Given the description of an element on the screen output the (x, y) to click on. 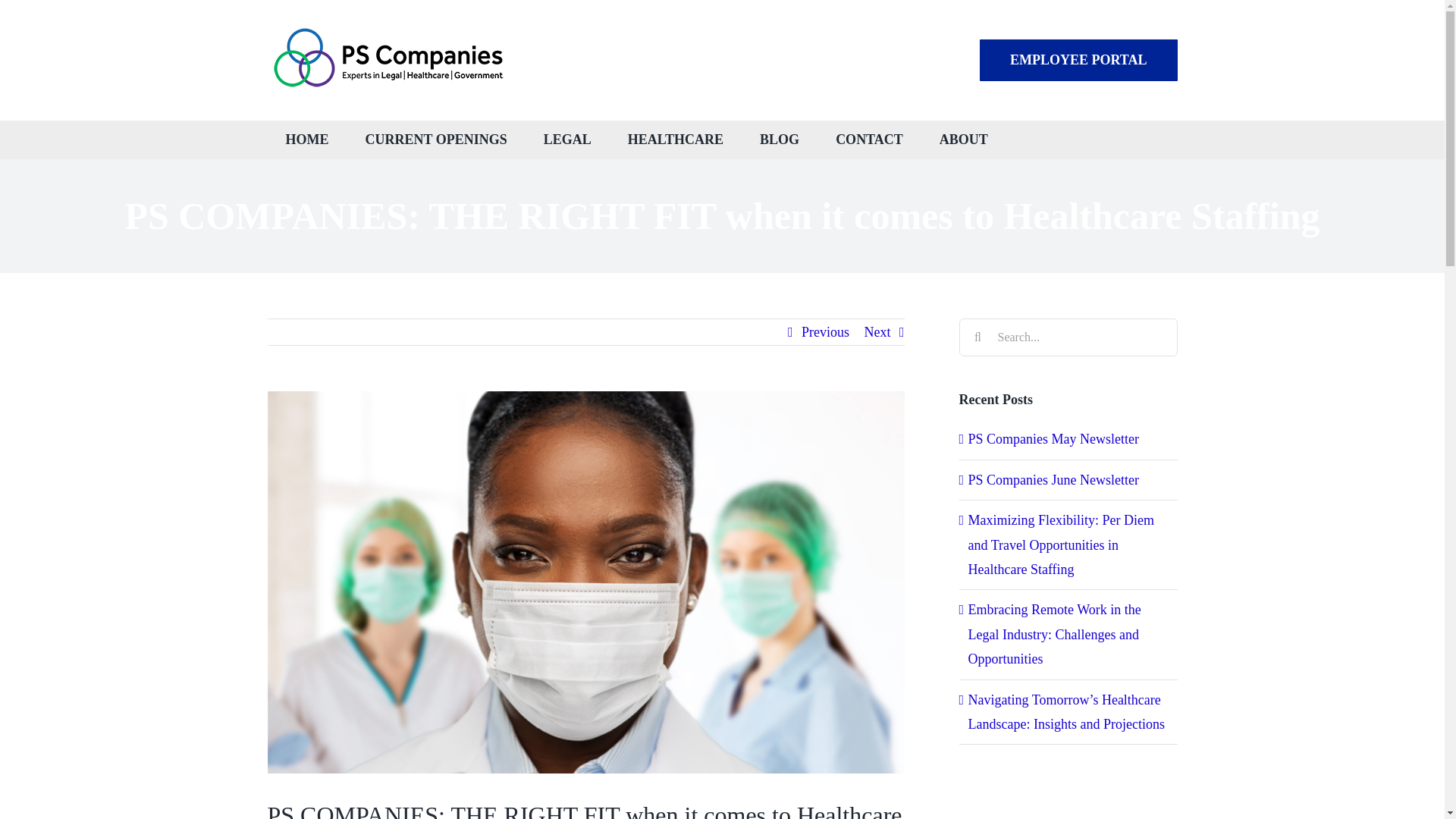
CONTACT (868, 139)
HOME (306, 139)
BLOG (778, 139)
CURRENT OPENINGS (436, 139)
HEALTHCARE (675, 139)
EMPLOYEE PORTAL (1078, 60)
LEGAL (567, 139)
ABOUT (963, 139)
